Given the description of an element on the screen output the (x, y) to click on. 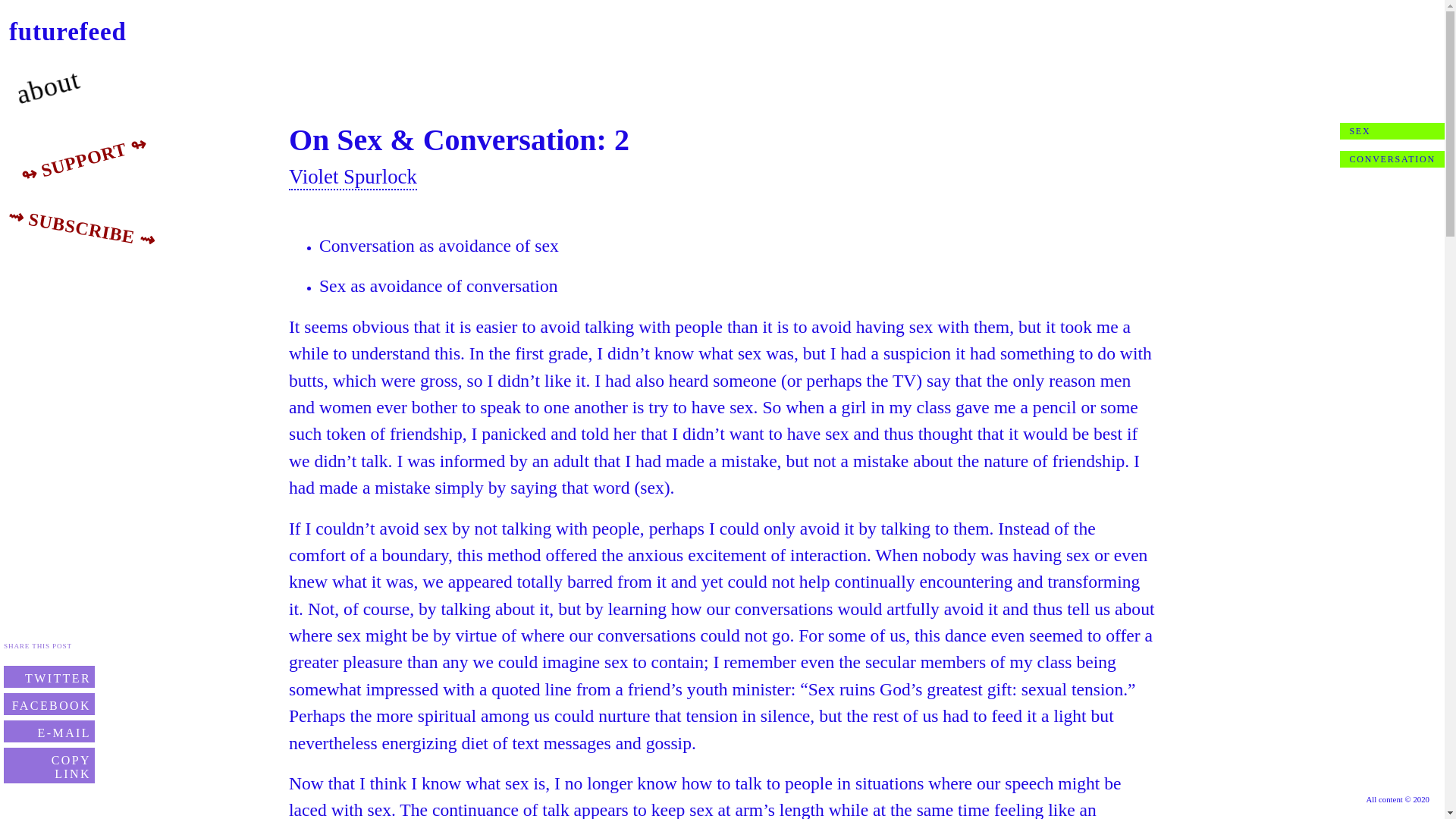
COPY LINK (49, 764)
about (45, 79)
TWITTER (49, 676)
FACEBOOK (49, 703)
E-MAIL (49, 731)
Violet Spurlock (352, 177)
futurefeed (67, 31)
